Given the description of an element on the screen output the (x, y) to click on. 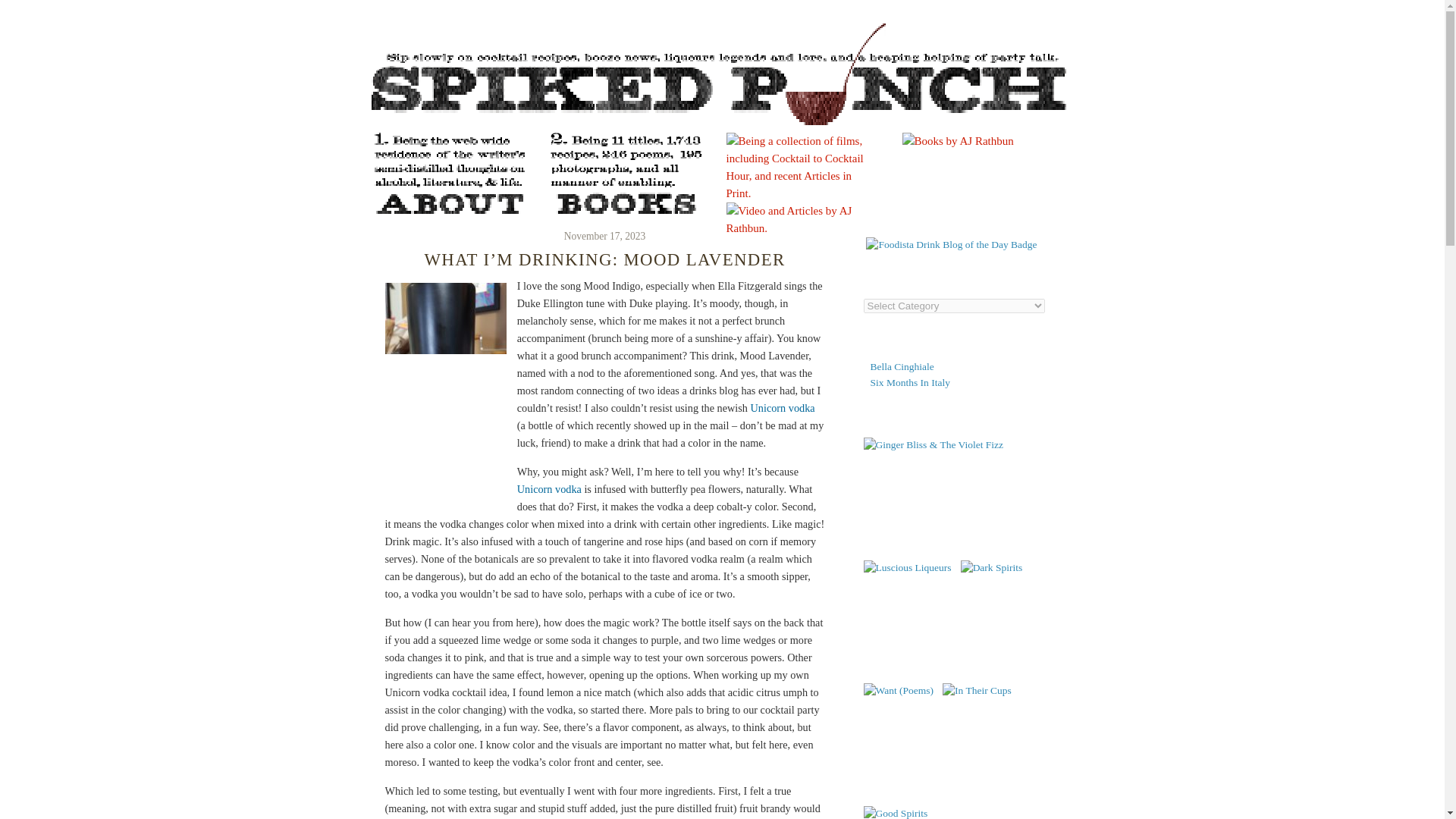
Unicorn vodka (783, 408)
Unicorn vodka (548, 489)
Foodista Drink Blog of the Day Badge (951, 244)
